Given the description of an element on the screen output the (x, y) to click on. 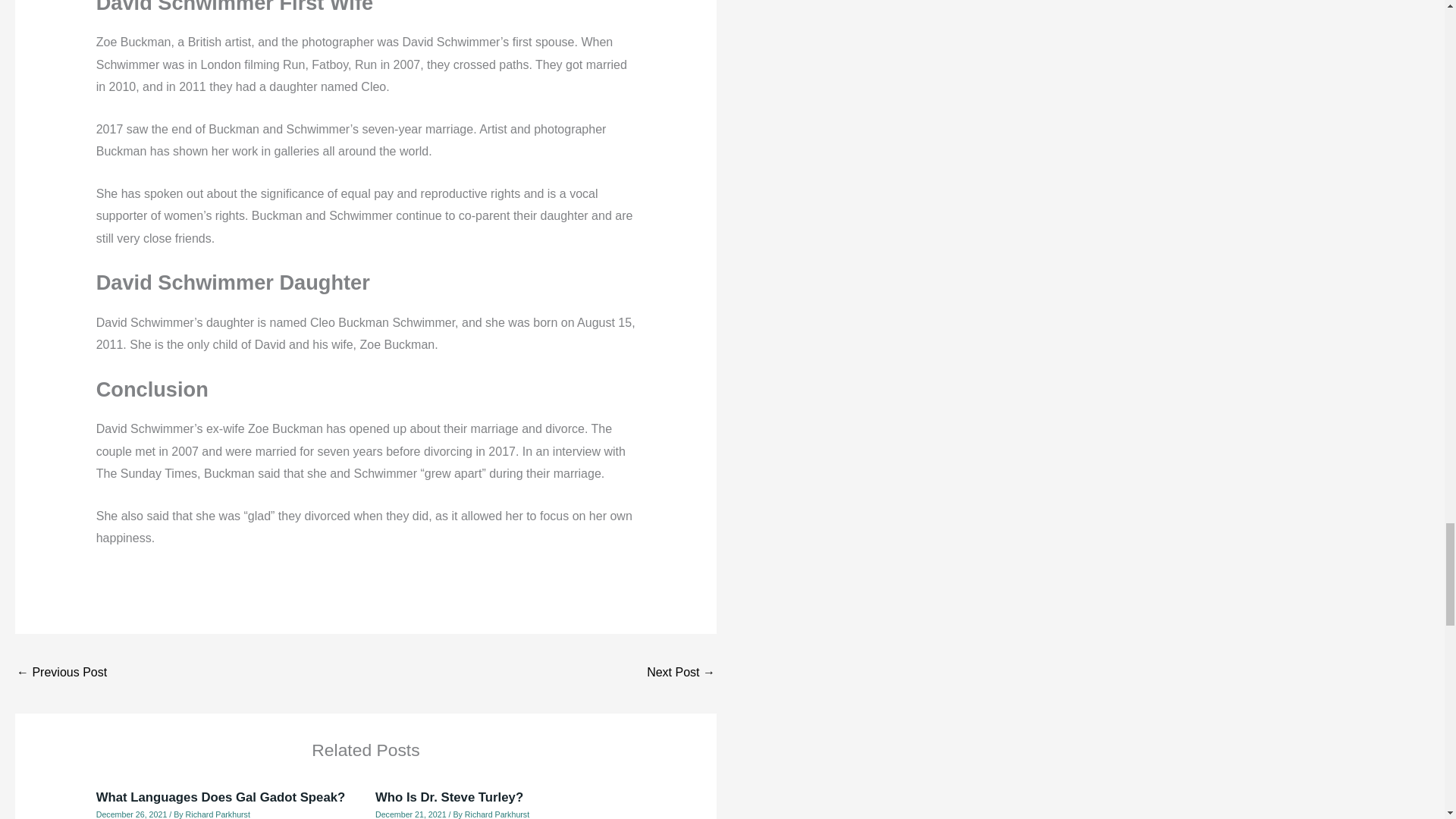
View all posts by Richard Parkhurst (496, 814)
What Languages Does Gal Gadot Speak? (221, 797)
Richard Parkhurst (496, 814)
View all posts by Richard Parkhurst (218, 814)
Richard Parkhurst (218, 814)
Who Inherited Eddie Van Halen's Estate? (680, 673)
Who Is Dr. Steve Turley? (448, 797)
